Given the description of an element on the screen output the (x, y) to click on. 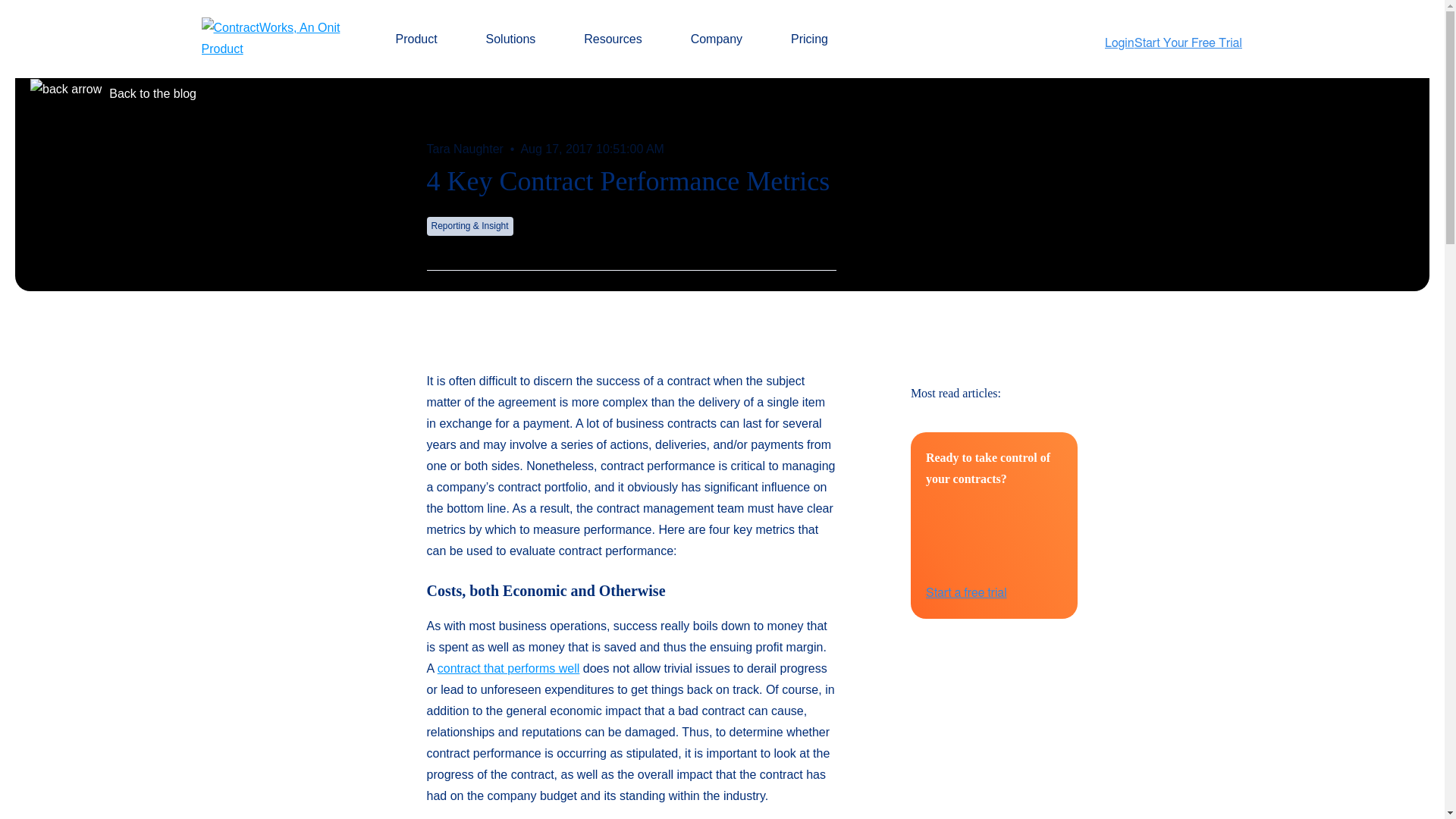
Product (423, 38)
Pricing (809, 38)
Company (725, 38)
Resources (620, 38)
Solutions (518, 38)
